Given the description of an element on the screen output the (x, y) to click on. 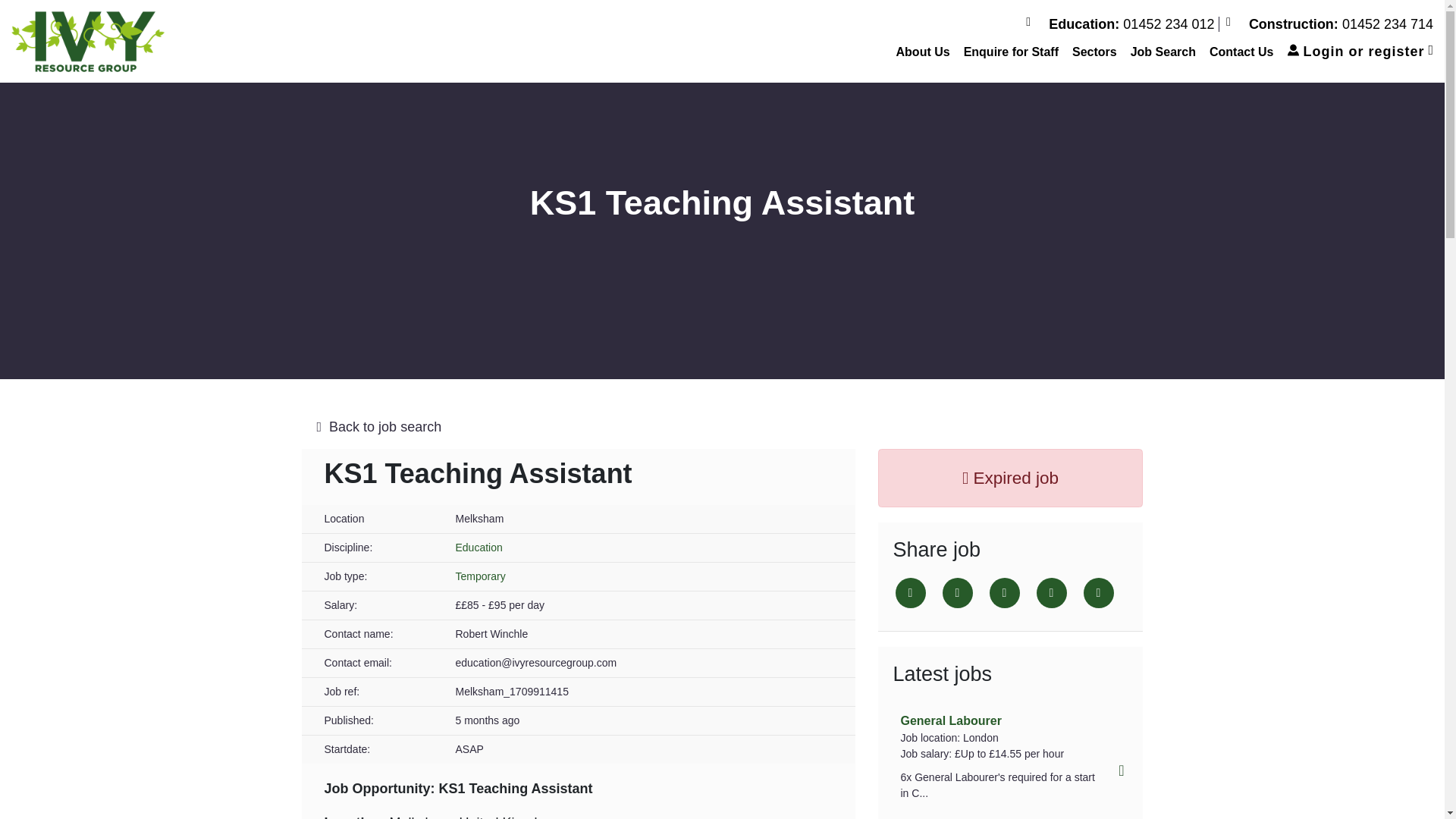
share on LinkedIn (1003, 593)
Job Search (1163, 51)
Login or register (1359, 51)
Enquire for Staff (1010, 51)
Contact Us (1240, 51)
Sectors (1094, 51)
Email (1050, 593)
share on Facebook (957, 593)
Tweet this (909, 593)
About Us (922, 51)
